Given the description of an element on the screen output the (x, y) to click on. 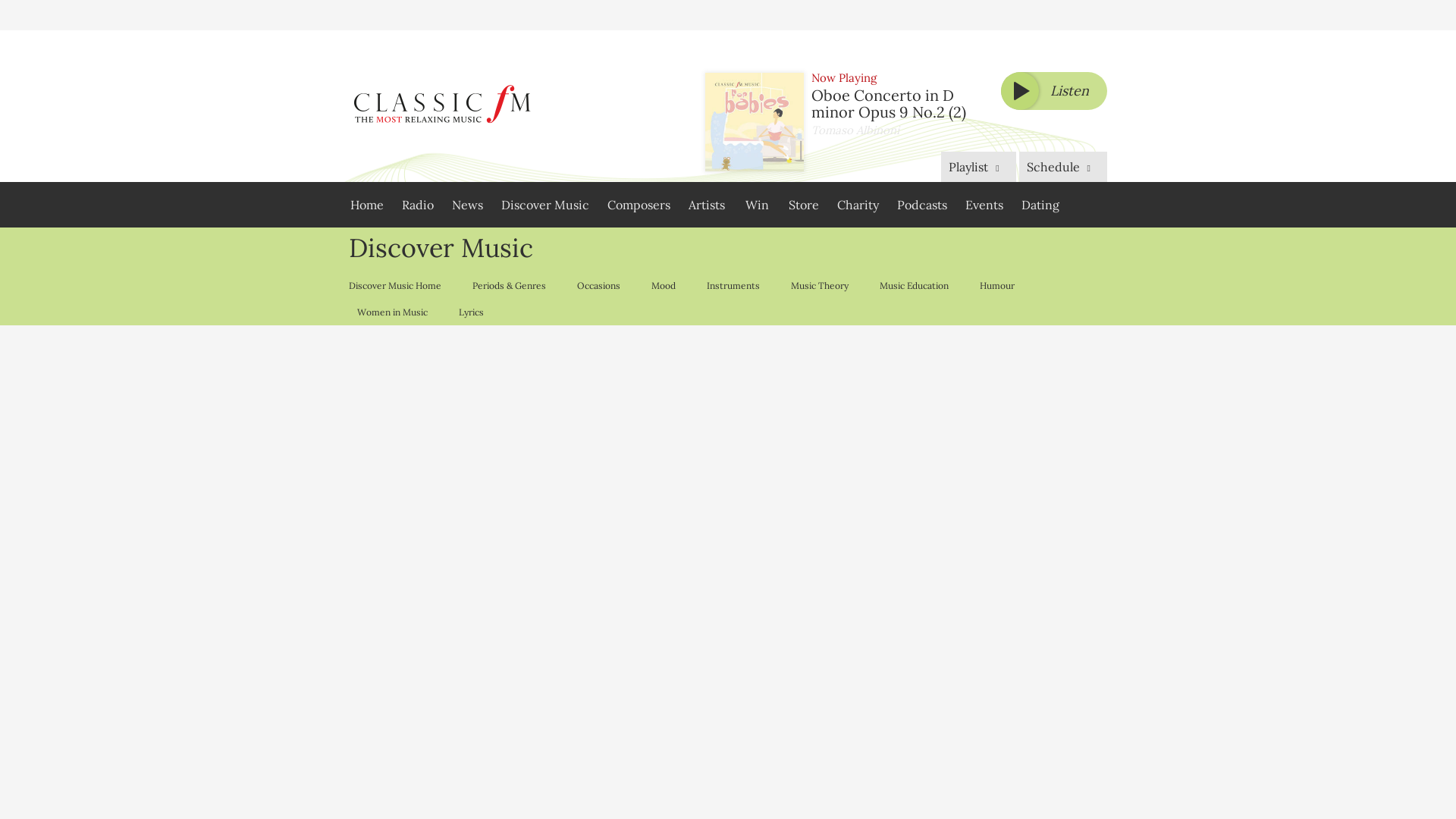
Dating (1039, 204)
Mood (662, 285)
Playlist (977, 166)
Composers (638, 204)
Discover Music (545, 204)
Artists (706, 204)
Events (983, 204)
Music Education (913, 285)
News (467, 204)
Listen (1053, 90)
Women in Music (391, 311)
Lyrics (470, 311)
Occasions (597, 285)
Podcasts (922, 204)
Discover Music Home (398, 285)
